Given the description of an element on the screen output the (x, y) to click on. 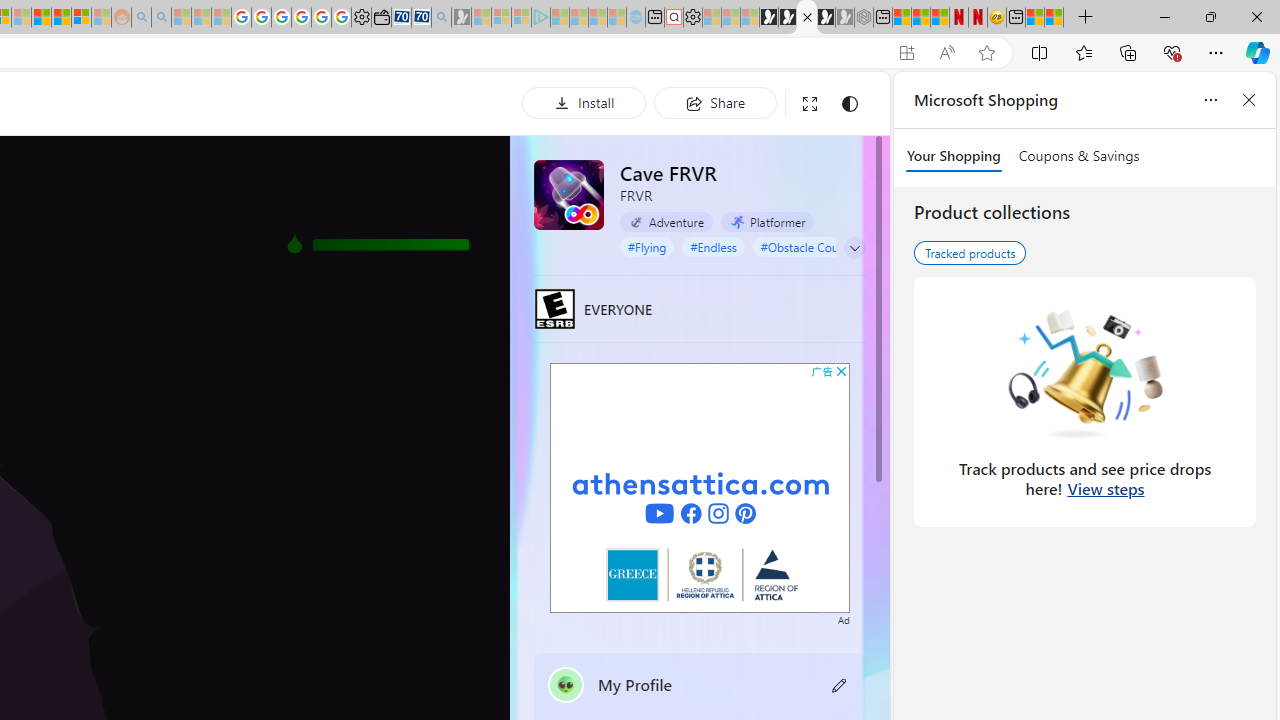
Advertisement (699, 487)
